Given the description of an element on the screen output the (x, y) to click on. 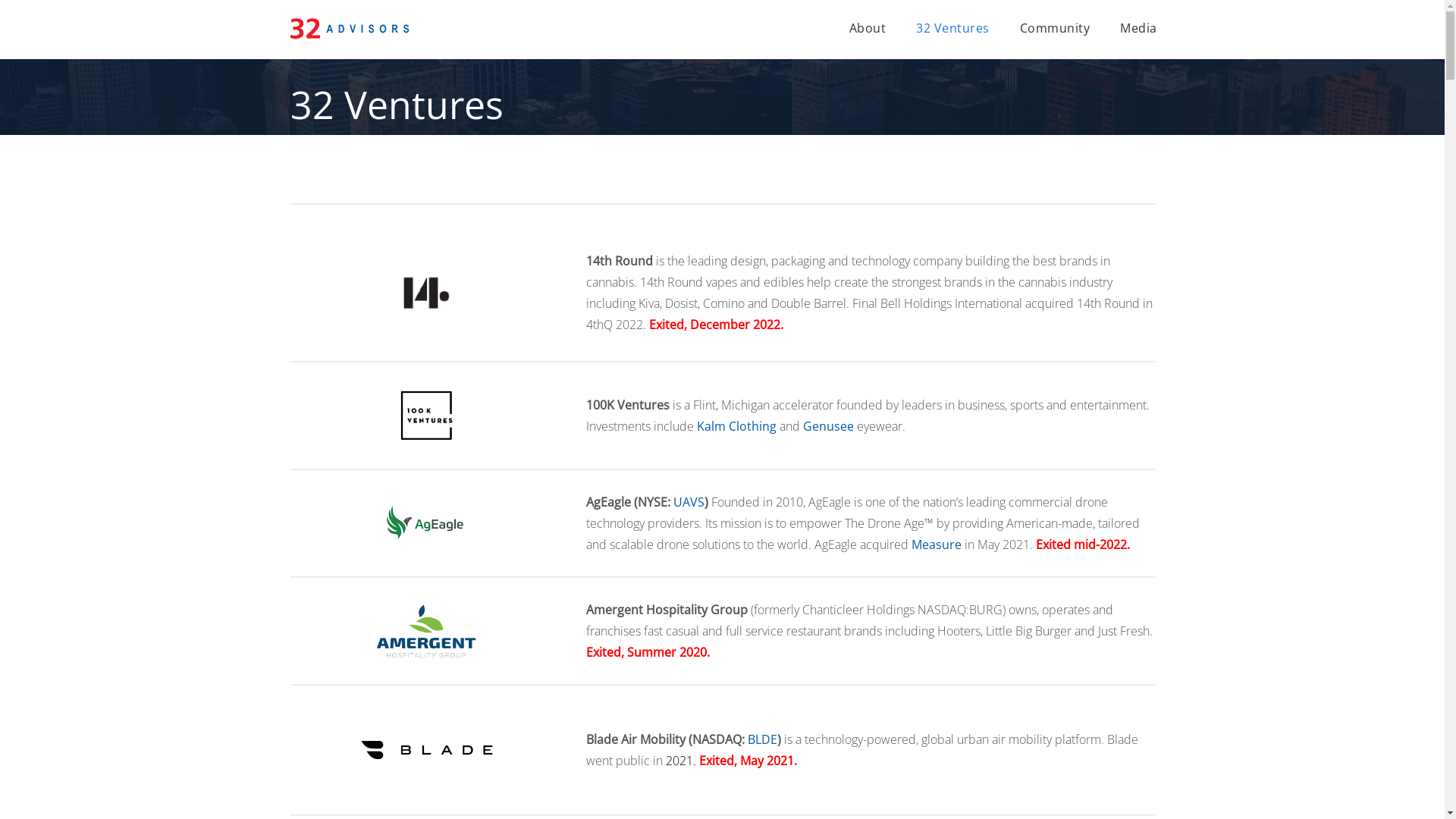
Genusee Element type: text (827, 425)
Kalm Clothing Element type: text (735, 425)
BLDE Element type: text (762, 739)
14th Round Element type: hover (425, 292)
UAVS Element type: text (688, 501)
100KVenturesLogo_Blk Element type: hover (425, 415)
Measure Element type: text (936, 544)
blade Element type: hover (425, 749)
32Advisors Element type: hover (351, 26)
AgEagle Element type: hover (425, 516)
Amergent Element type: hover (425, 630)
